Given the description of an element on the screen output the (x, y) to click on. 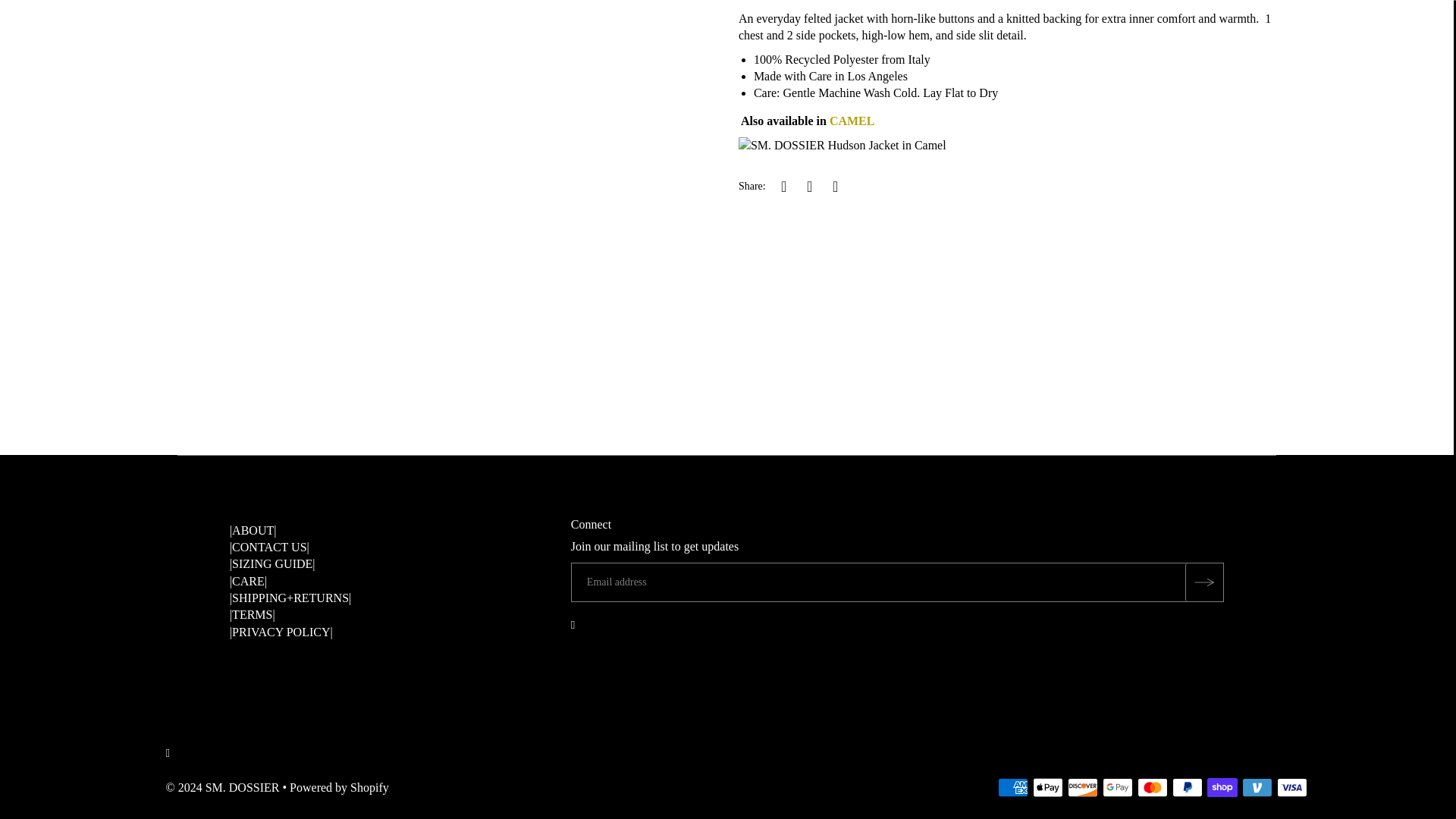
PayPal (1187, 787)
SM. DOSSIER Hudson Jacket in Camel (842, 144)
Shop Pay (1222, 787)
Share on Pinterest (835, 185)
American Express (1012, 787)
Visa (1291, 787)
Apple Pay (1047, 787)
SM. DOSSIER Hudson Jacket in Camel (852, 120)
Share on Twitter (809, 185)
Venmo (1256, 787)
Share on Facebook (783, 185)
Discover (1082, 787)
Google Pay (1117, 787)
Mastercard (1152, 787)
